Given the description of an element on the screen output the (x, y) to click on. 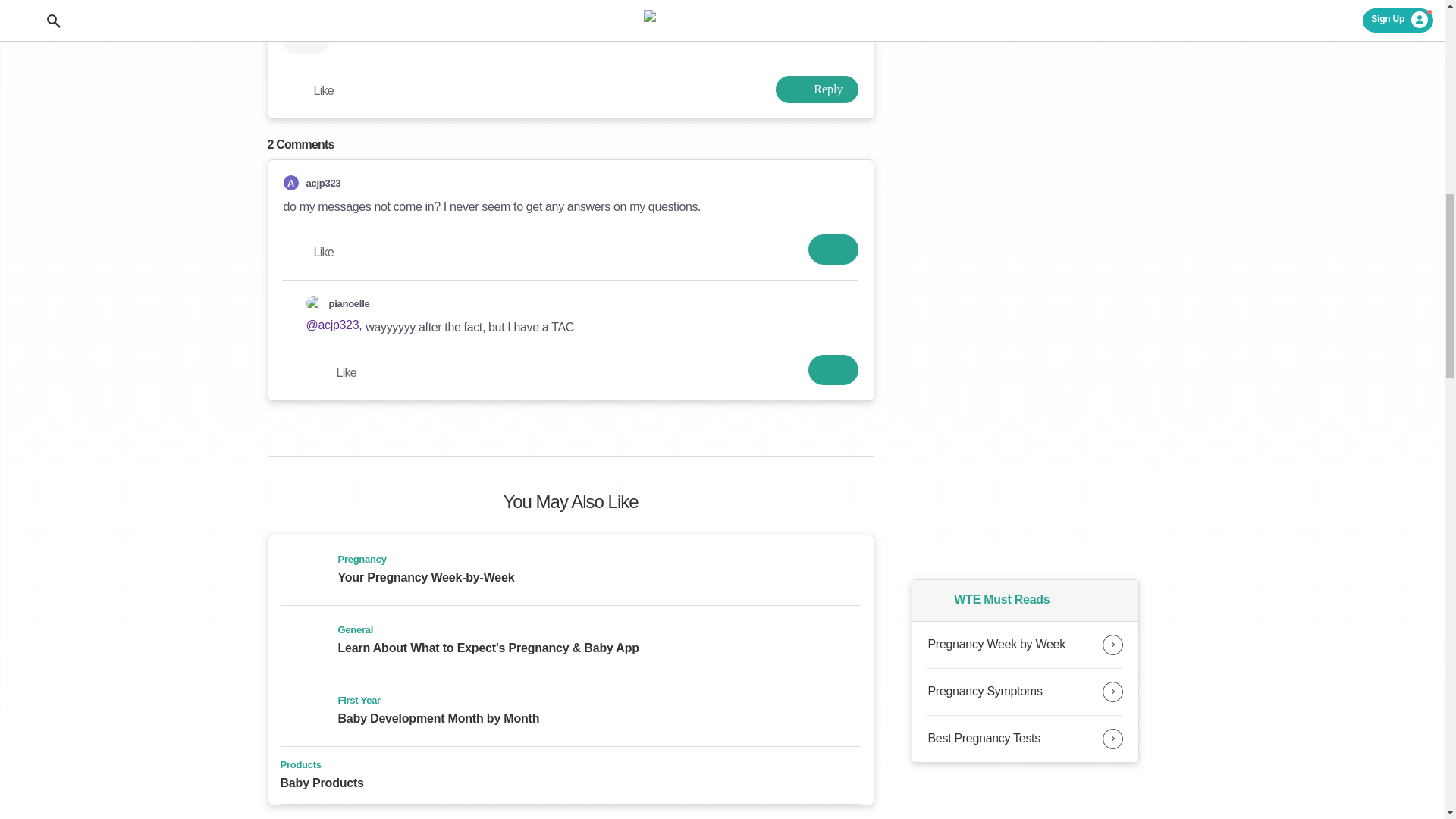
Pregnancy Week by Week (1024, 645)
Pregnancy Symptoms (1024, 692)
Best Pregnancy Tests (1024, 738)
